Given the description of an element on the screen output the (x, y) to click on. 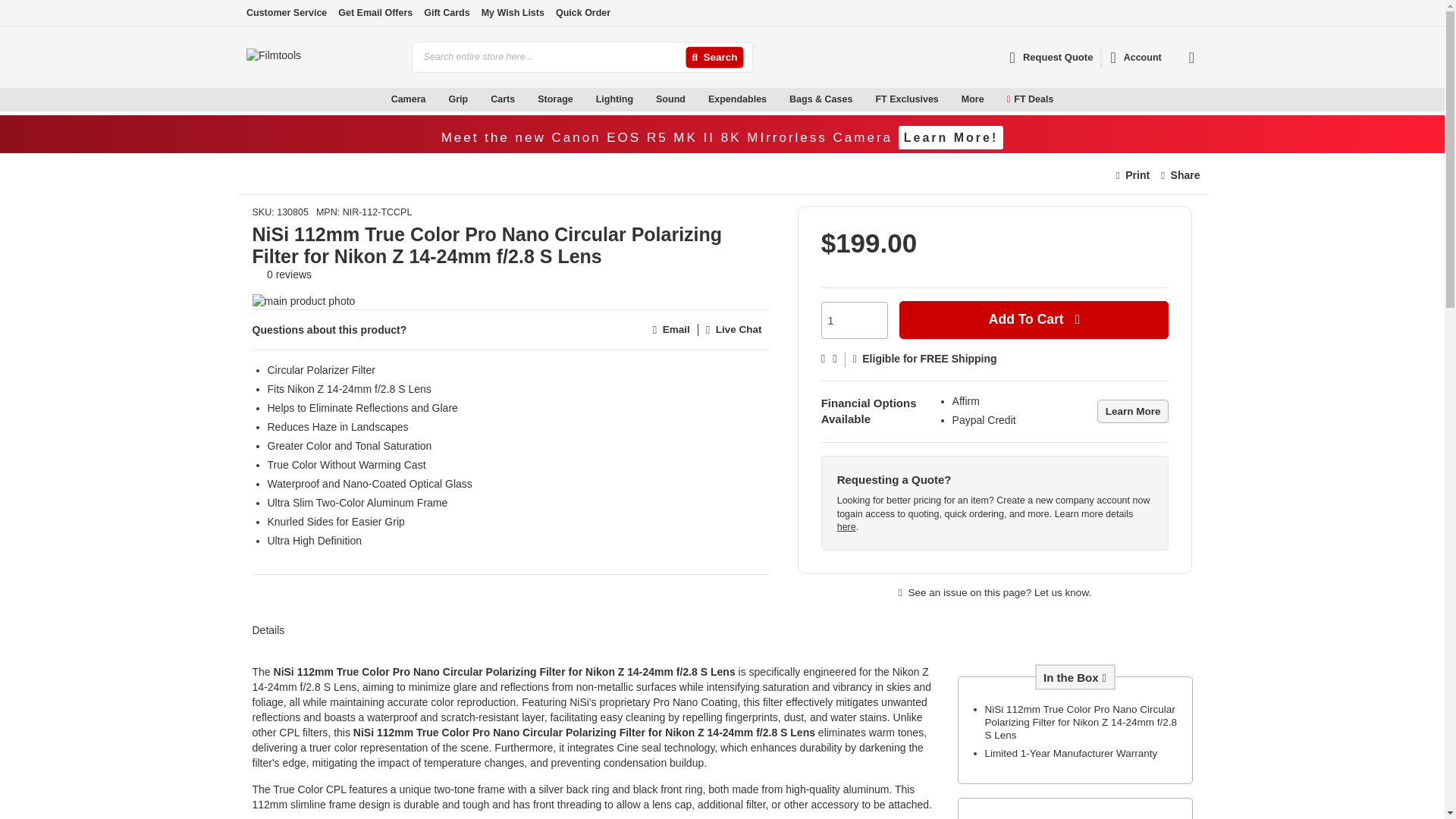
Share (1179, 175)
Account (1135, 57)
Report Issue (994, 592)
Print (1133, 175)
Gift Cards (445, 12)
Qty (854, 320)
Search (713, 57)
Add to Cart (1034, 320)
Request Quote (1051, 56)
1 (854, 320)
Camera (409, 99)
Get Email Offers (374, 12)
Filmtools (321, 57)
Search (713, 57)
Customer Service (286, 12)
